Given the description of an element on the screen output the (x, y) to click on. 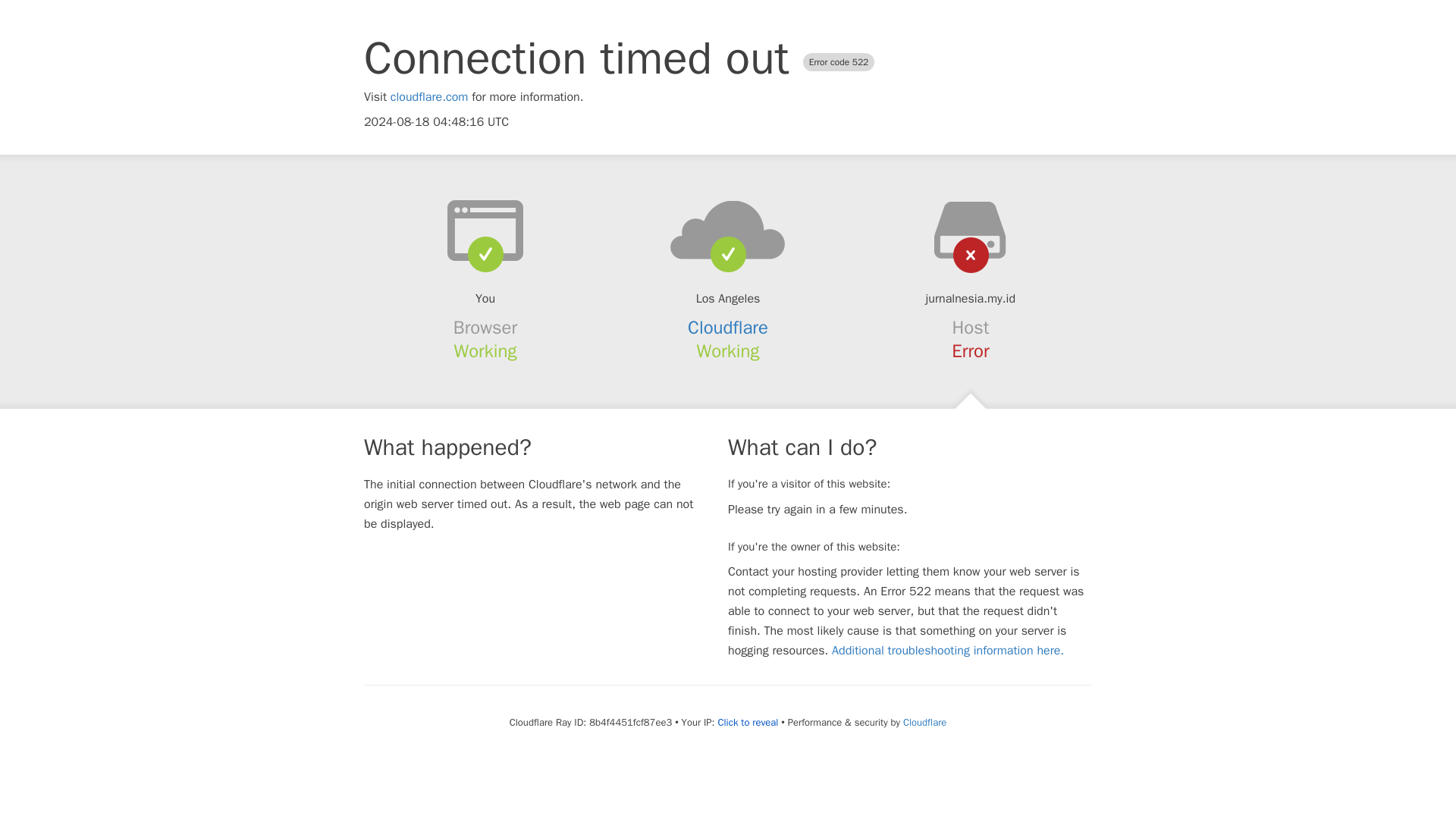
Additional troubleshooting information here. (947, 650)
Cloudflare (727, 327)
cloudflare.com (429, 96)
Click to reveal (747, 722)
Cloudflare (924, 721)
